Given the description of an element on the screen output the (x, y) to click on. 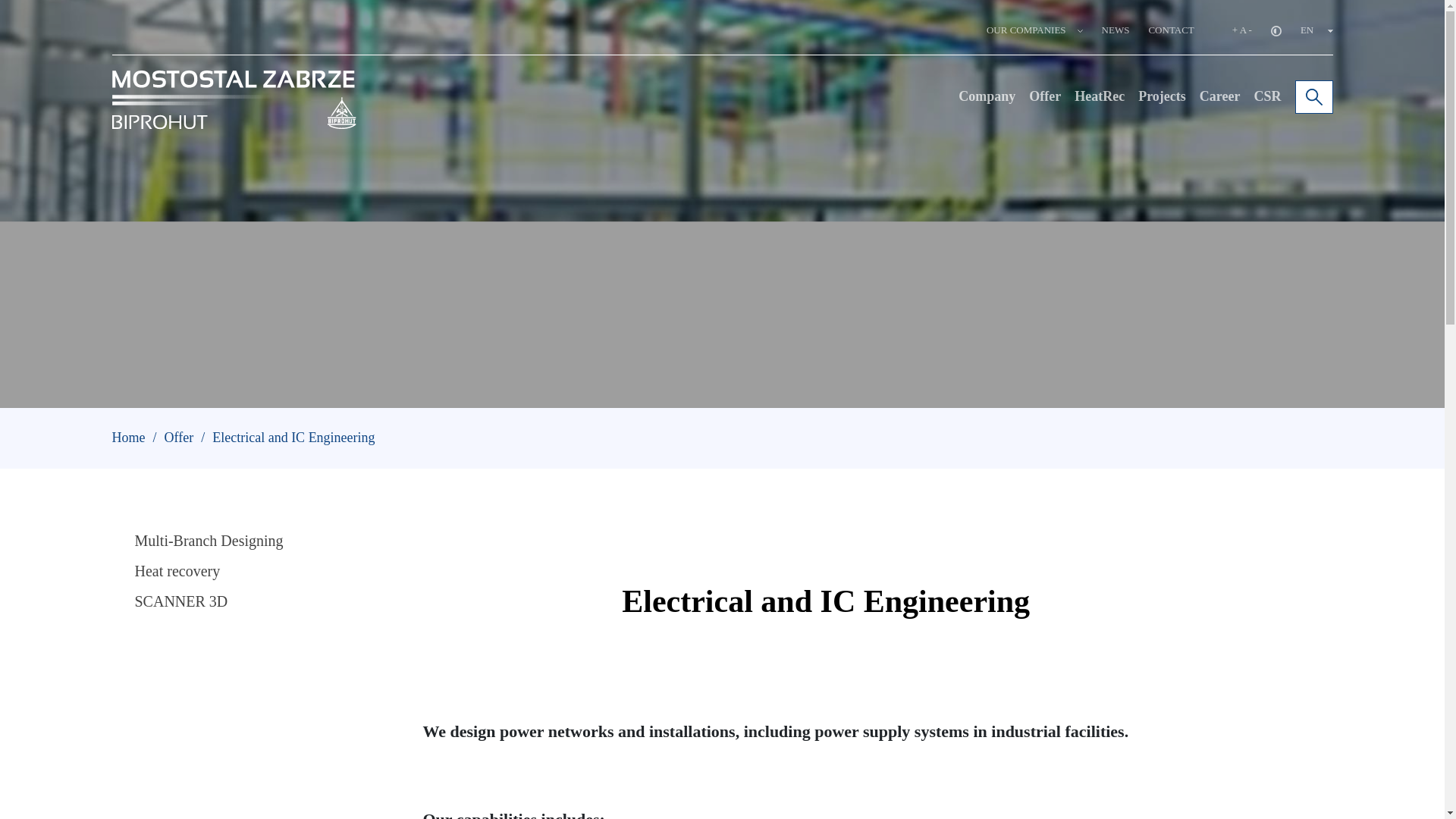
News (1115, 30)
HeatRec (1099, 96)
Home (128, 437)
Heat recovery (159, 570)
Electrical and IC Engineering (293, 437)
Offer (178, 437)
CSR (1267, 96)
Career (1219, 96)
Projects (1162, 96)
Multi-Branch Designing (191, 540)
